Given the description of an element on the screen output the (x, y) to click on. 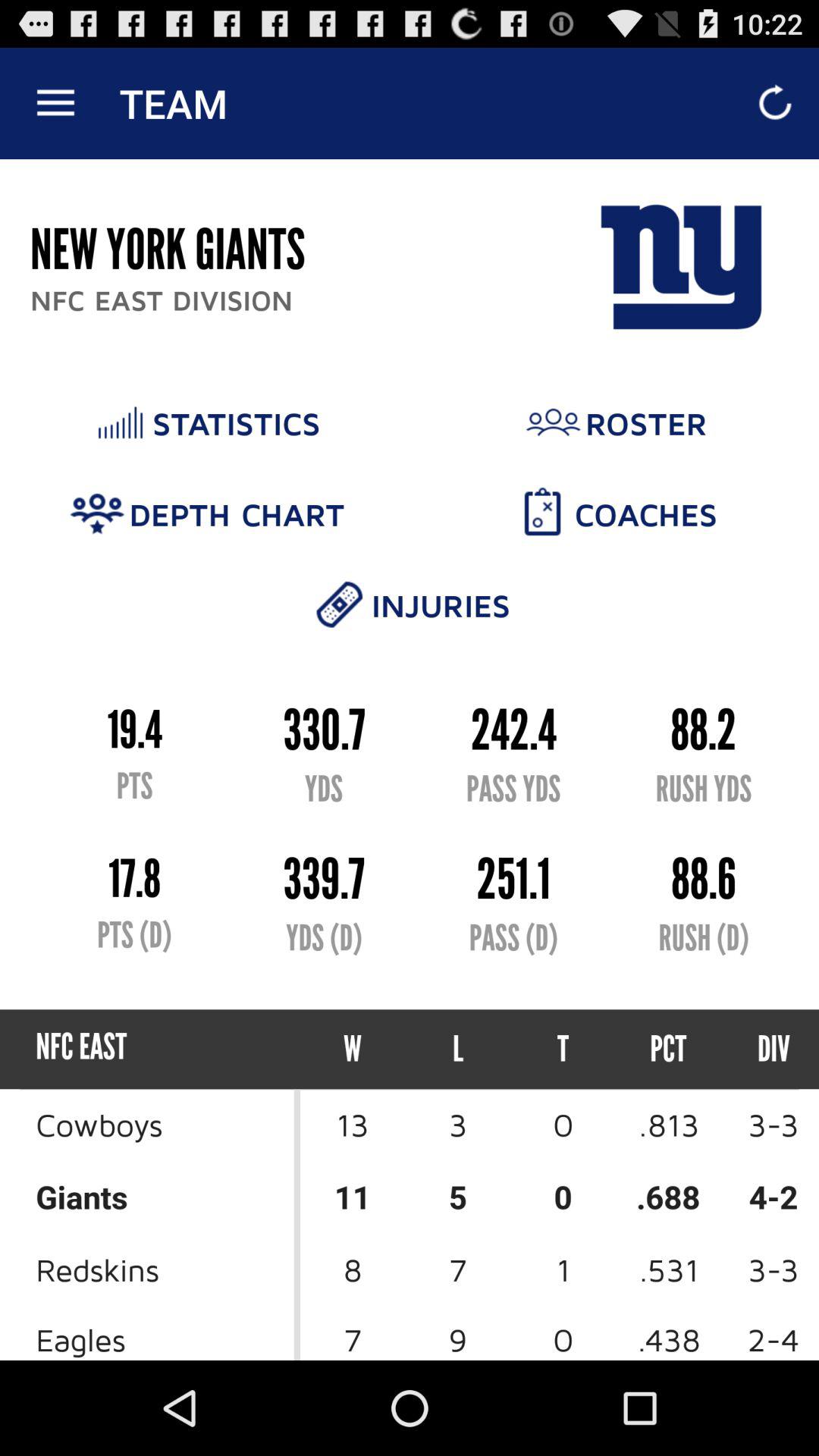
flip until the w icon (352, 1049)
